Given the description of an element on the screen output the (x, y) to click on. 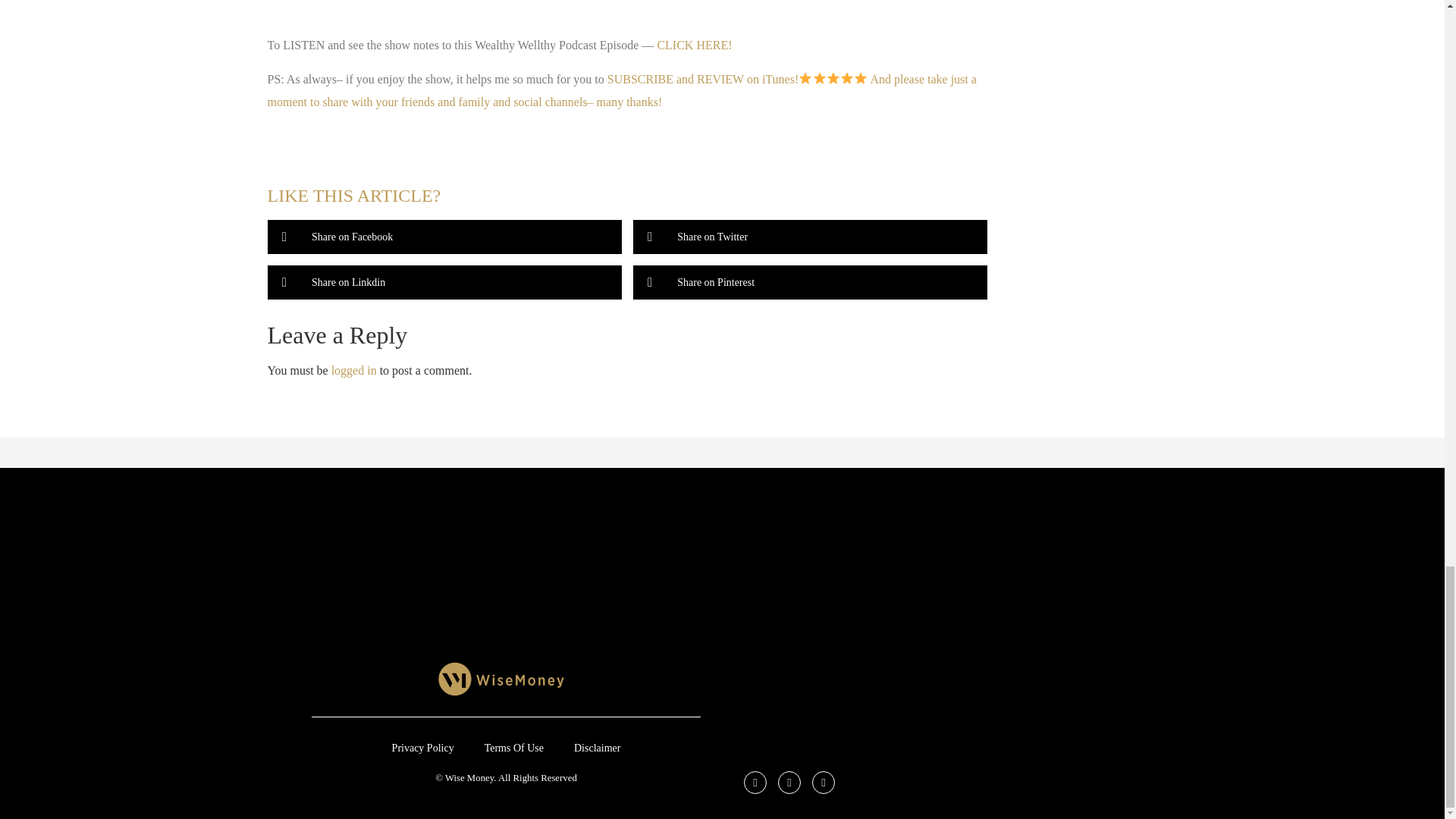
CLICK HERE! (692, 44)
Privacy Policy (422, 748)
logged in (354, 369)
Disclaimer (596, 748)
Terms Of Use (513, 748)
